Given the description of an element on the screen output the (x, y) to click on. 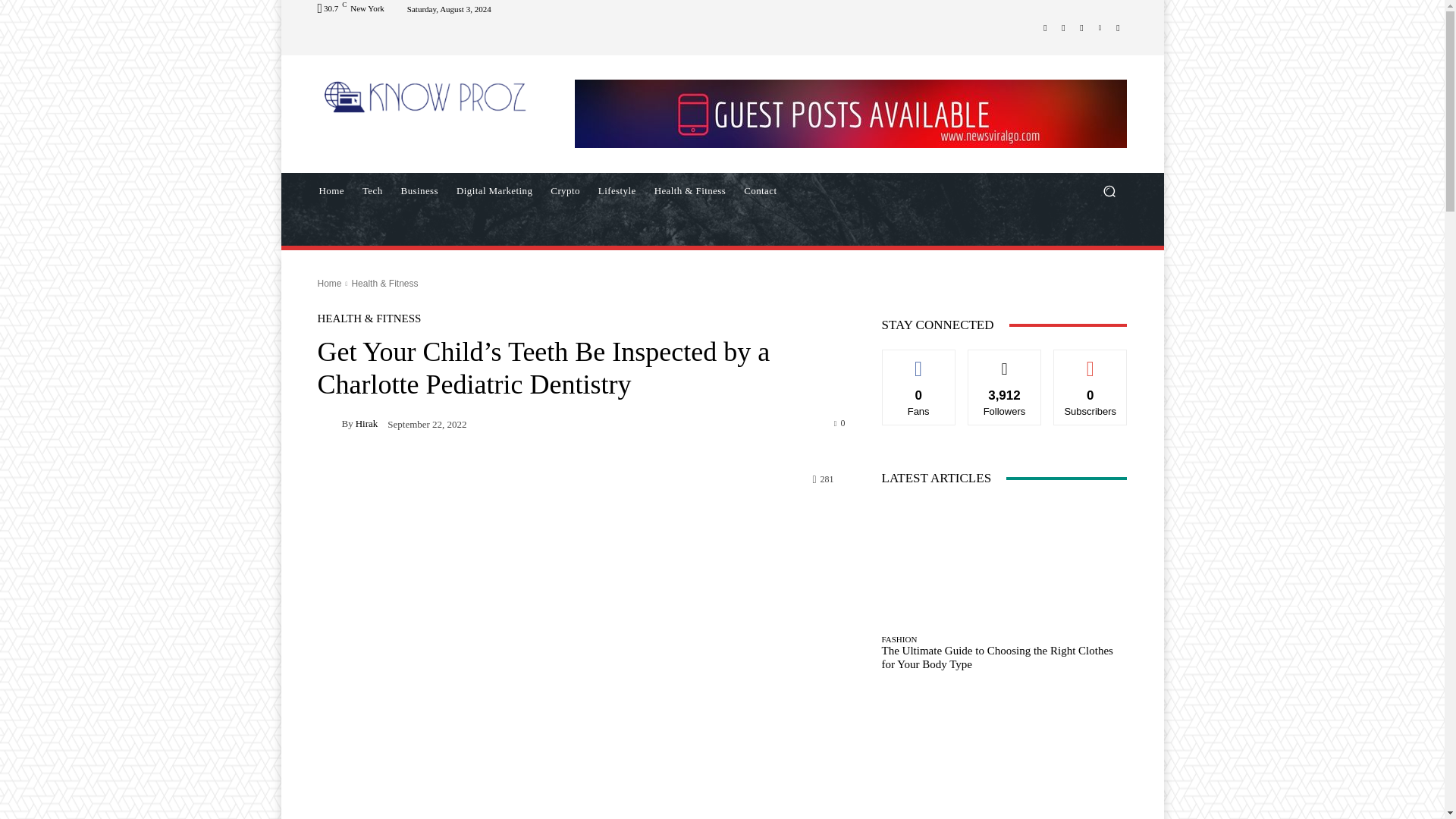
Home (330, 190)
Youtube (1117, 27)
Twitter (1080, 27)
Tech (372, 190)
Facebook (1044, 27)
Vimeo (1099, 27)
Hirak (328, 423)
Crypto (565, 190)
Business (418, 190)
Contact (760, 190)
Lifestyle (617, 190)
Digital Marketing (493, 190)
Instagram (1062, 27)
Home (328, 283)
